Given the description of an element on the screen output the (x, y) to click on. 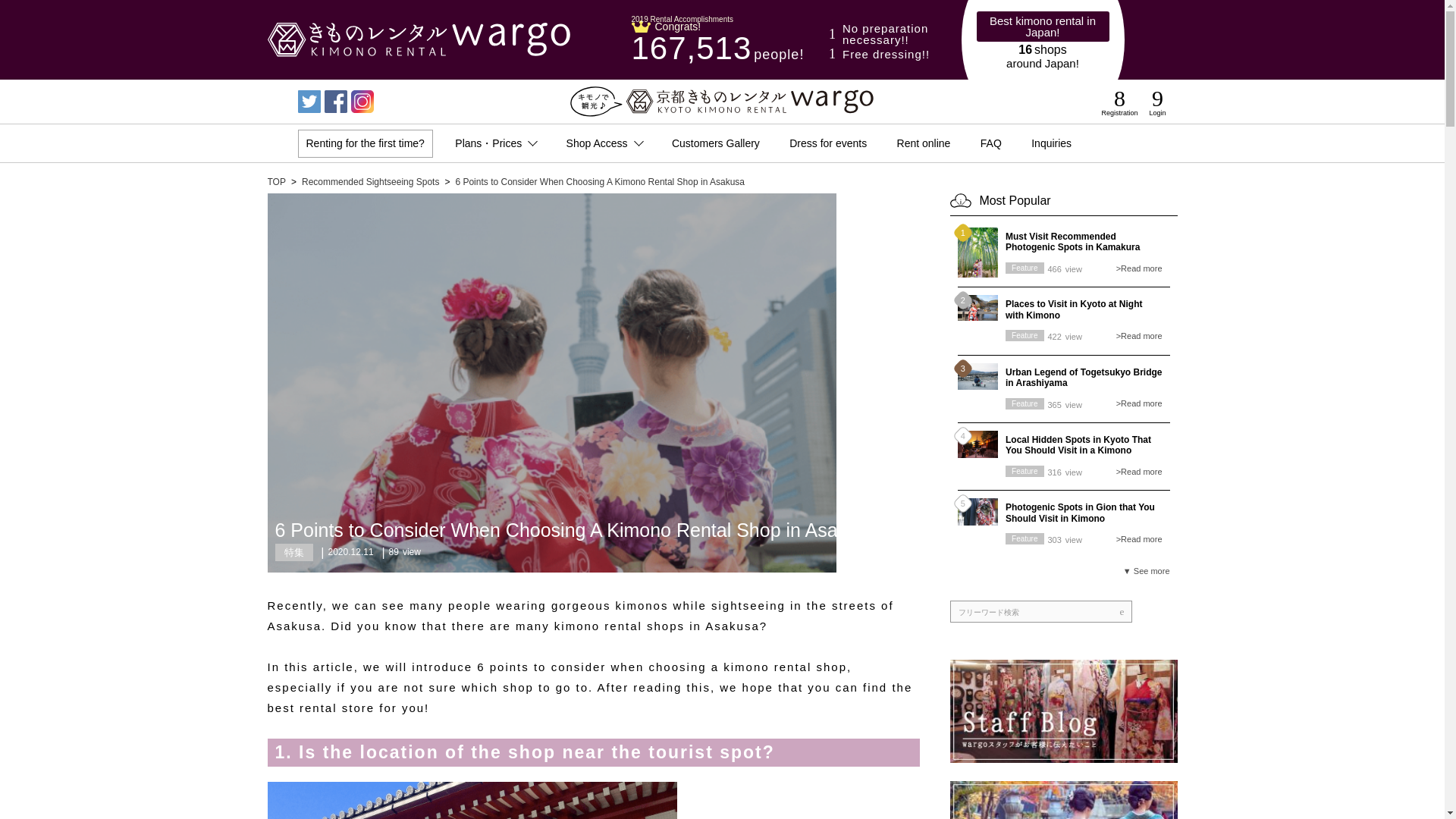
Shop Access (604, 142)
Renting for the first time? (364, 142)
Registration (1118, 101)
